Given the description of an element on the screen output the (x, y) to click on. 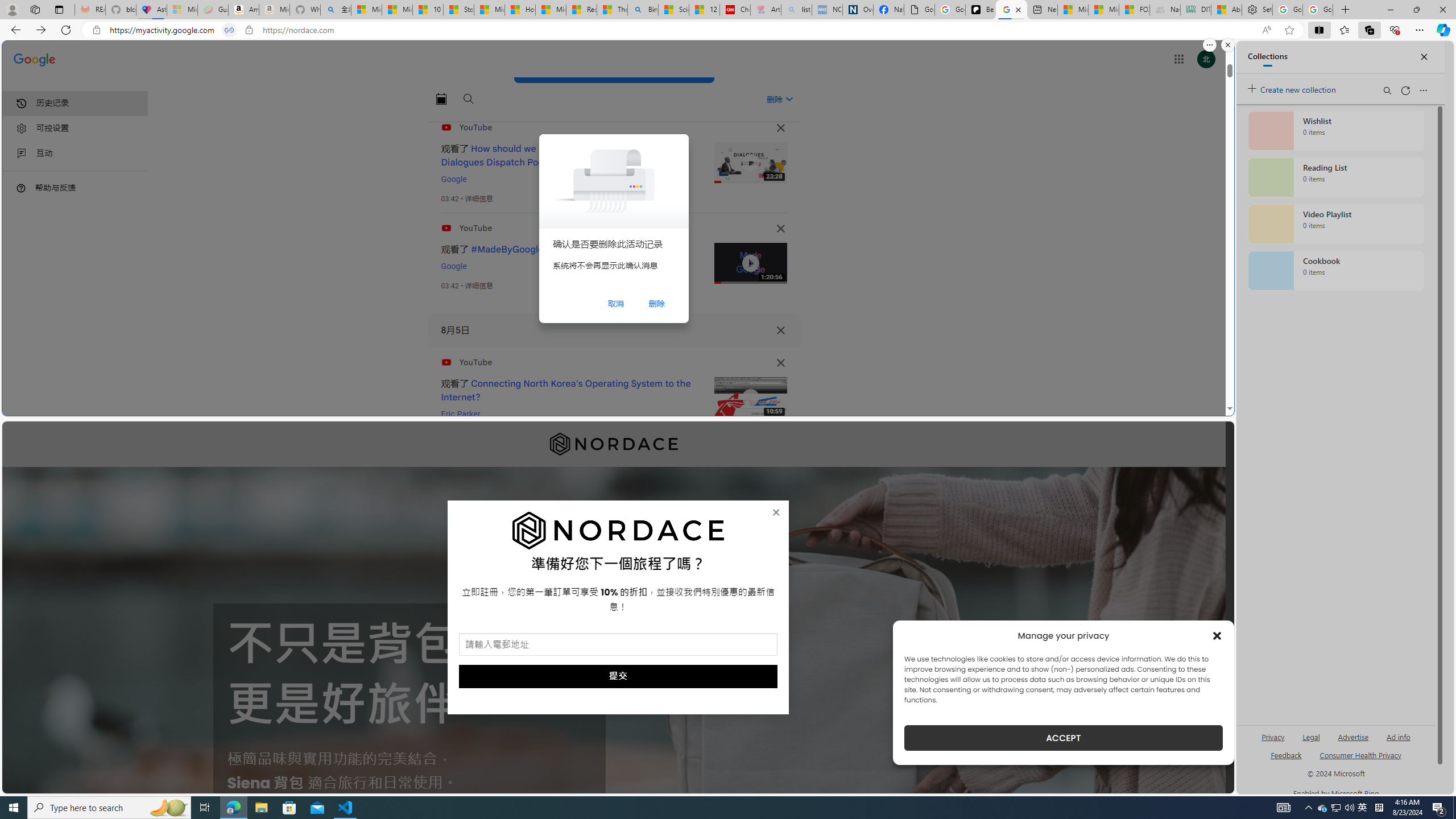
Arthritis: Ask Health Professionals - Sleeping (765, 9)
Close split screen. (1227, 45)
